Given the description of an element on the screen output the (x, y) to click on. 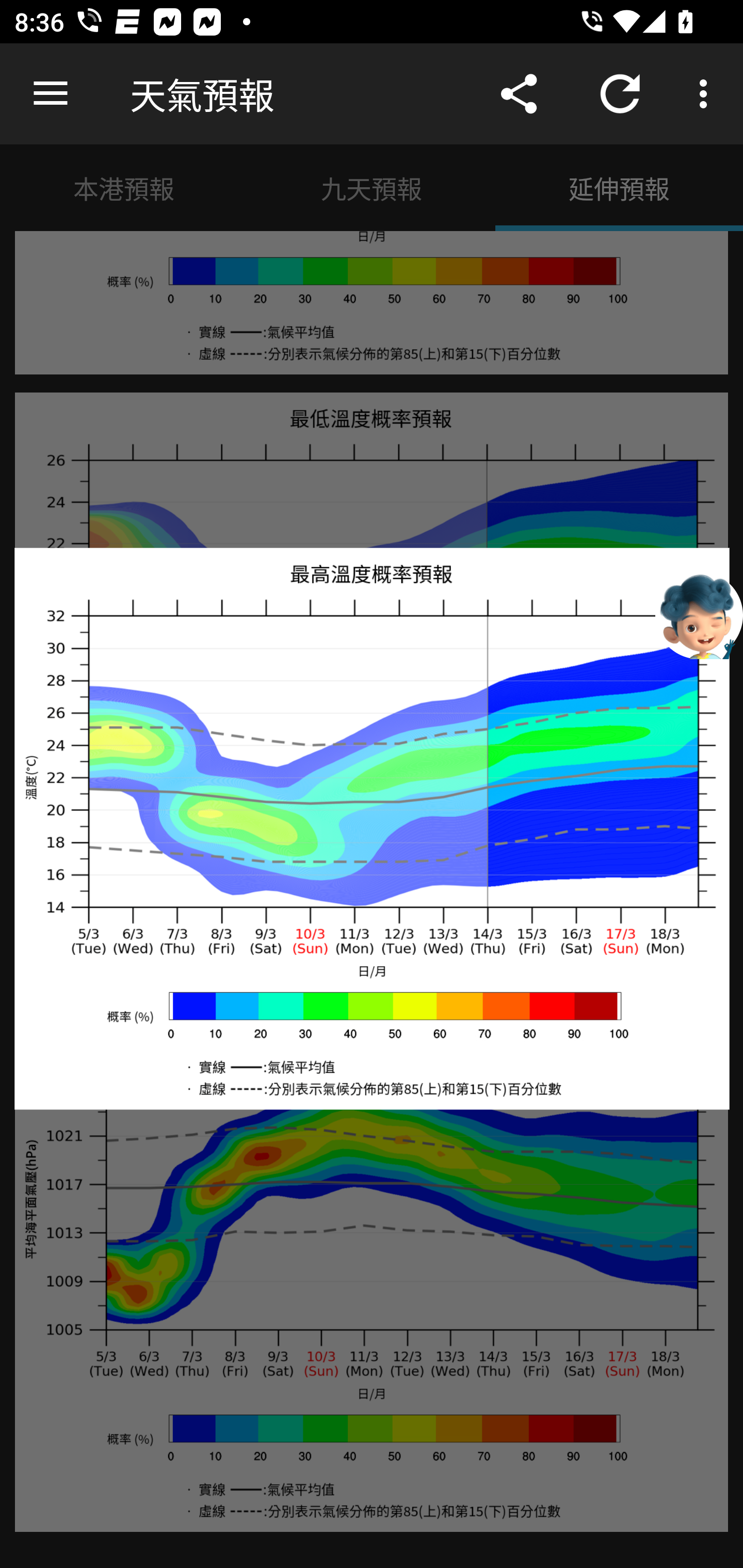
向上瀏覽 (50, 93)
分享 (518, 93)
重新整理 (619, 93)
更多選項 (706, 93)
聊天機械人 (699, 614)
